Given the description of an element on the screen output the (x, y) to click on. 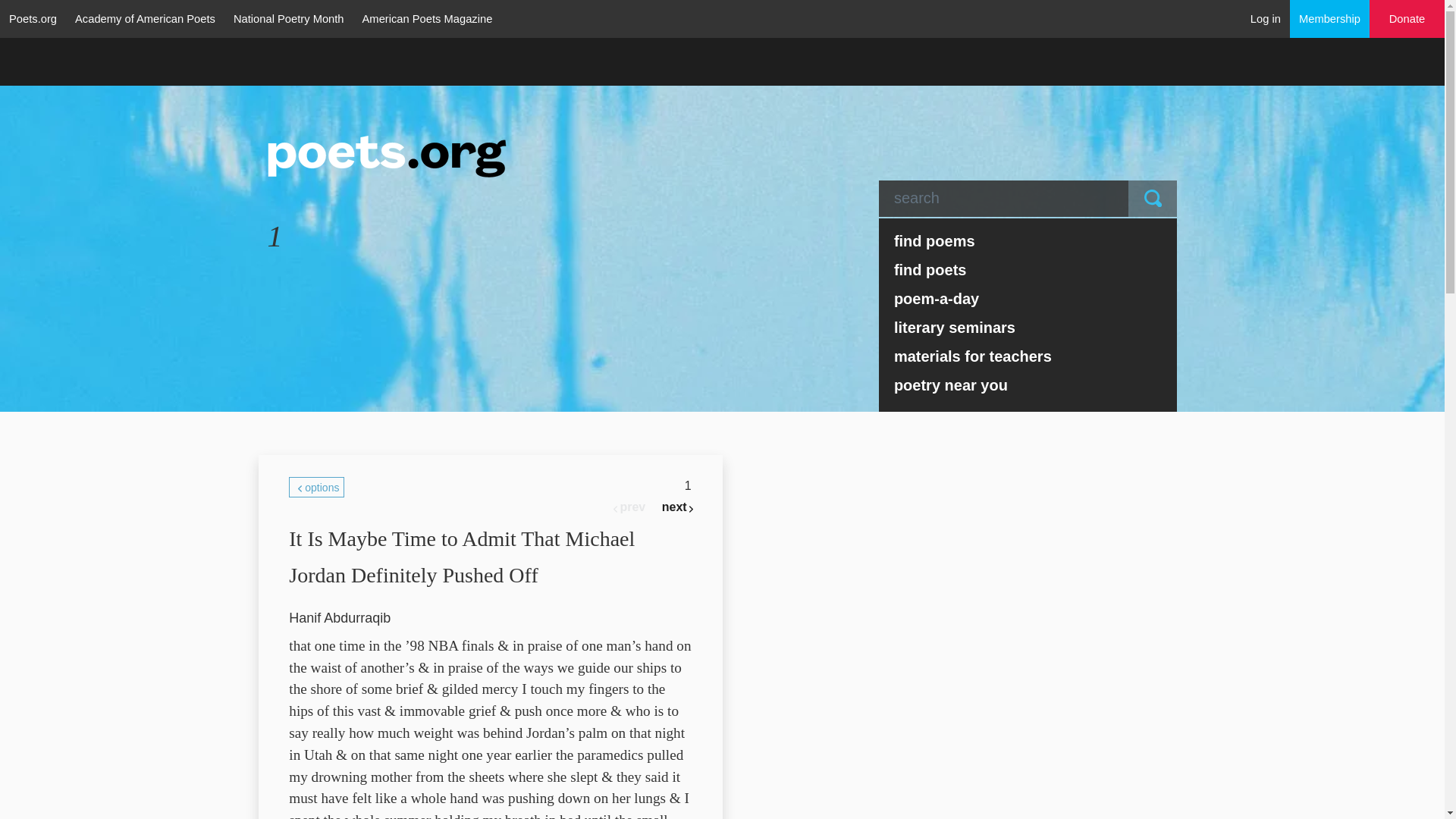
materials for teachers (1028, 356)
American Poets Magazine (427, 18)
find poems (1028, 240)
Log in (1265, 18)
poetry near you (1028, 385)
poem-a-day (1028, 298)
Become a member of the Academy of American Poets (1330, 18)
literary seminars (1028, 327)
Submit (1152, 198)
options (315, 486)
